Given the description of an element on the screen output the (x, y) to click on. 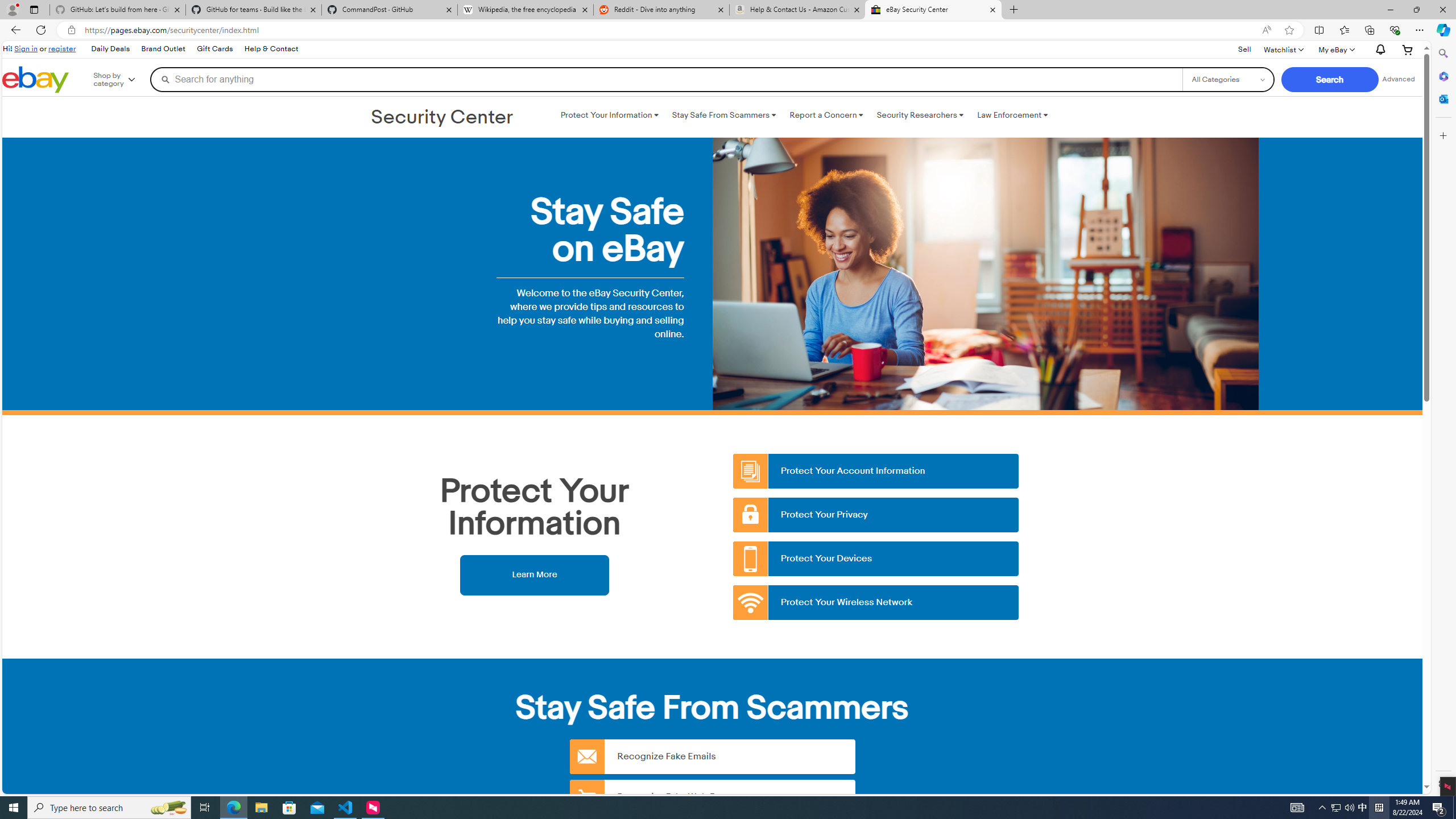
Protect Your Account Information (876, 470)
Stay Safe From Scammers  (723, 115)
Security Researchers  (919, 115)
Brand Outlet (163, 49)
Law Enforcement  (1012, 115)
Protect Your Wireless Network (876, 602)
Learn More (534, 574)
Gift Cards (214, 49)
Sell (1244, 49)
